Given the description of an element on the screen output the (x, y) to click on. 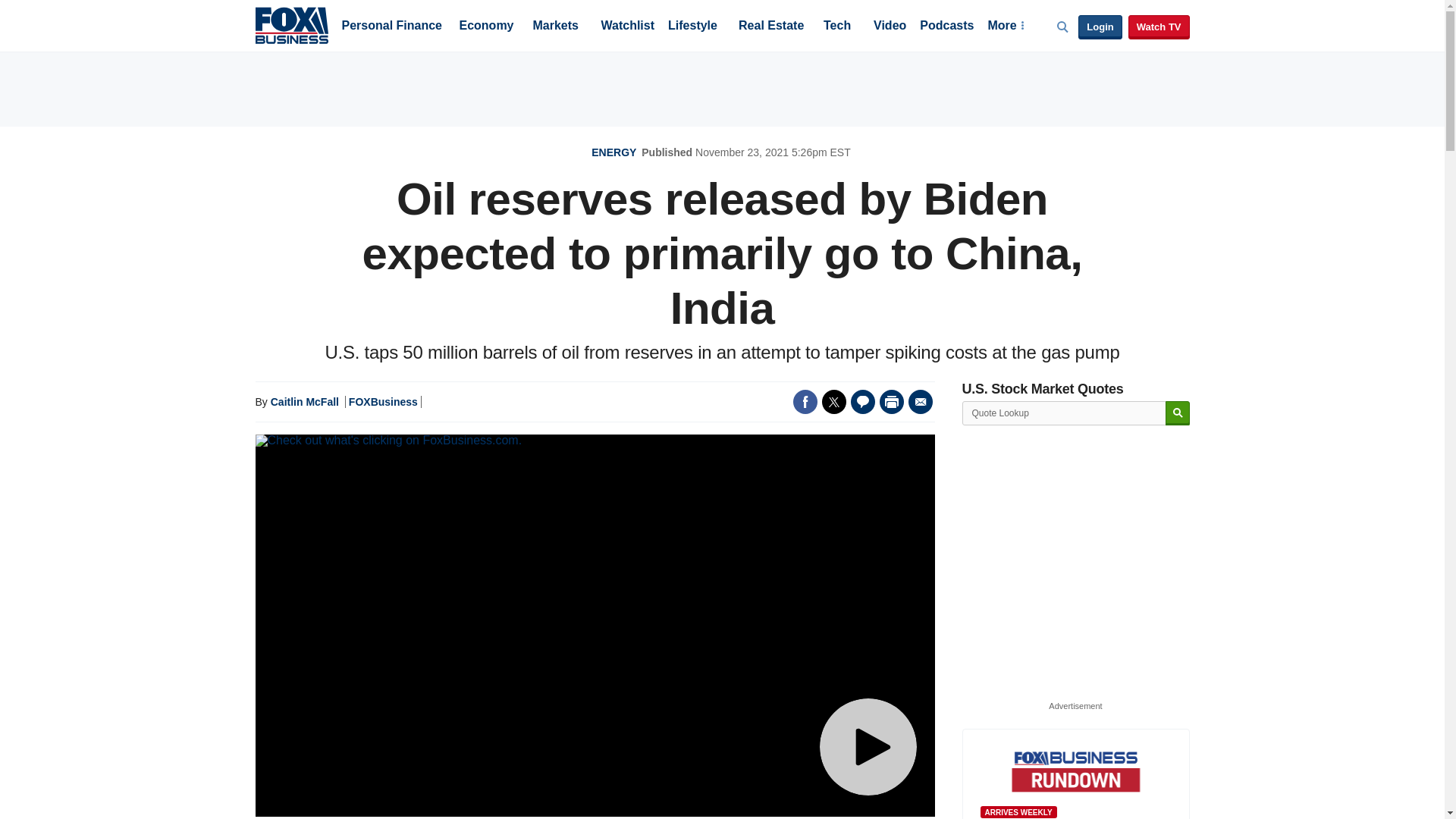
Personal Finance (391, 27)
Fox Business (290, 24)
Economy (486, 27)
Watchlist (626, 27)
Search (1176, 413)
Markets (555, 27)
Tech (837, 27)
Lifestyle (692, 27)
Real Estate (770, 27)
More (1005, 27)
Podcasts (947, 27)
Login (1099, 27)
Video (889, 27)
Search (1176, 413)
Watch TV (1158, 27)
